Given the description of an element on the screen output the (x, y) to click on. 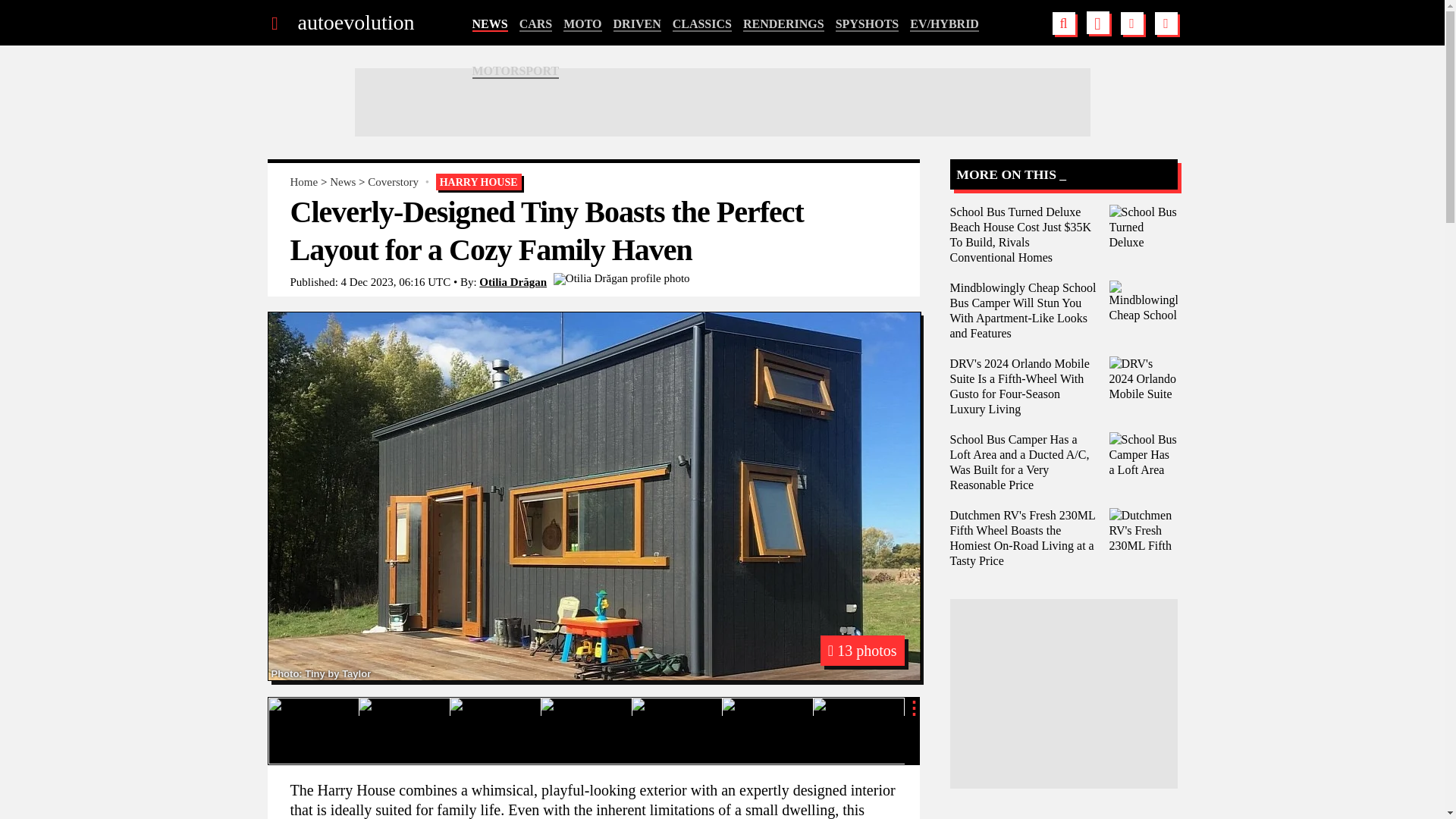
CARS (536, 24)
CLASSICS (702, 24)
autoevolution (355, 22)
Coverstory (393, 182)
MOTO (582, 24)
RENDERINGS (783, 24)
Home (303, 182)
SPYSHOTS (867, 24)
autoevolution (355, 22)
NEWS (488, 24)
